Given the description of an element on the screen output the (x, y) to click on. 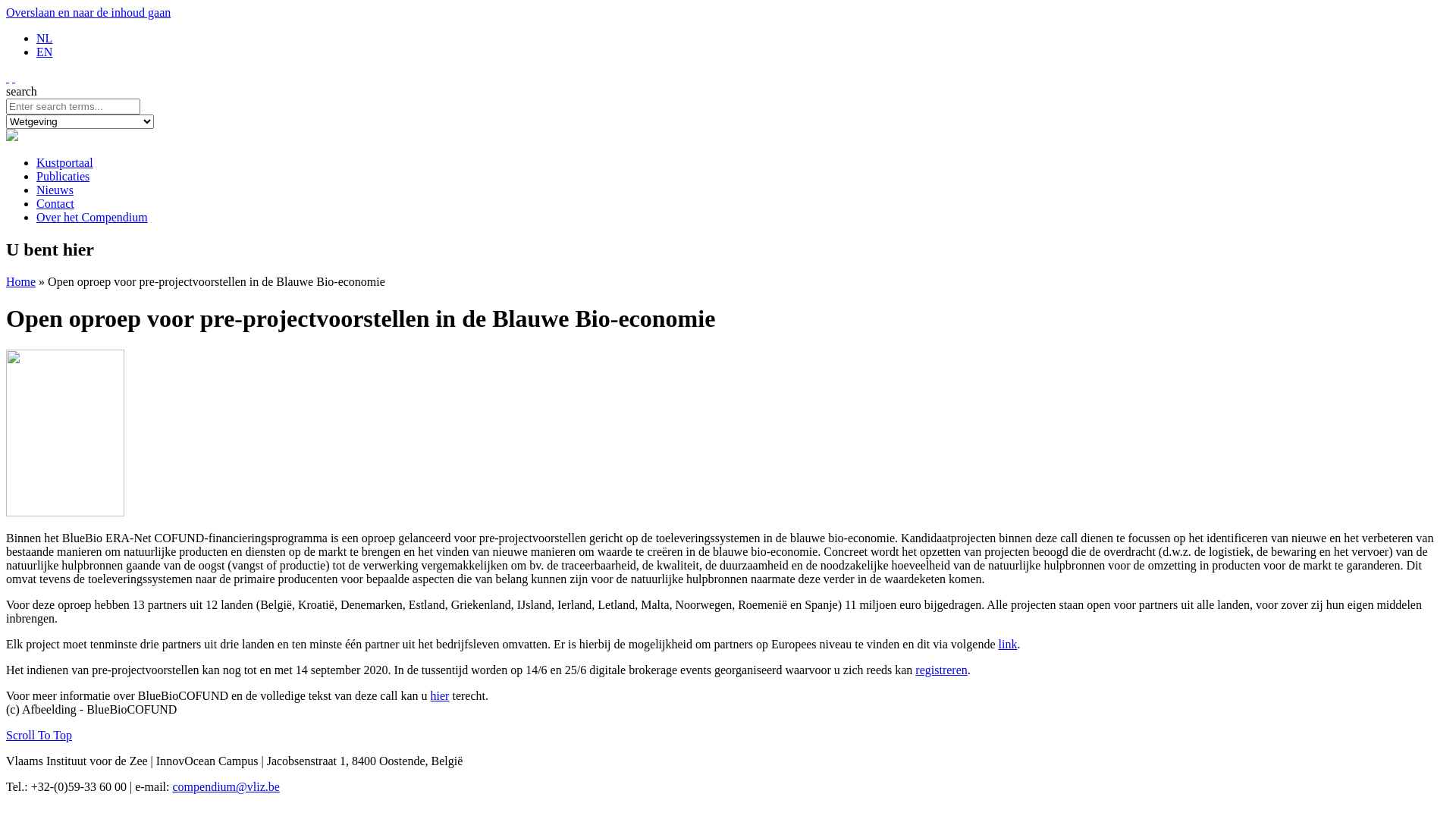
Contact Element type: text (55, 203)
  Element type: text (13, 77)
registreren Element type: text (940, 669)
Scroll To Top Element type: text (39, 734)
NL Element type: text (44, 37)
Home Element type: text (20, 281)
  Element type: text (7, 77)
compendium@vliz.be Element type: text (225, 786)
hier Element type: text (439, 695)
Publicaties Element type: text (62, 175)
Overslaan en naar de inhoud gaan Element type: text (88, 12)
EN Element type: text (44, 51)
Kustportaal Element type: text (64, 162)
Nieuws Element type: text (54, 189)
Over het Compendium Element type: text (91, 216)
link Element type: text (1006, 643)
